Given the description of an element on the screen output the (x, y) to click on. 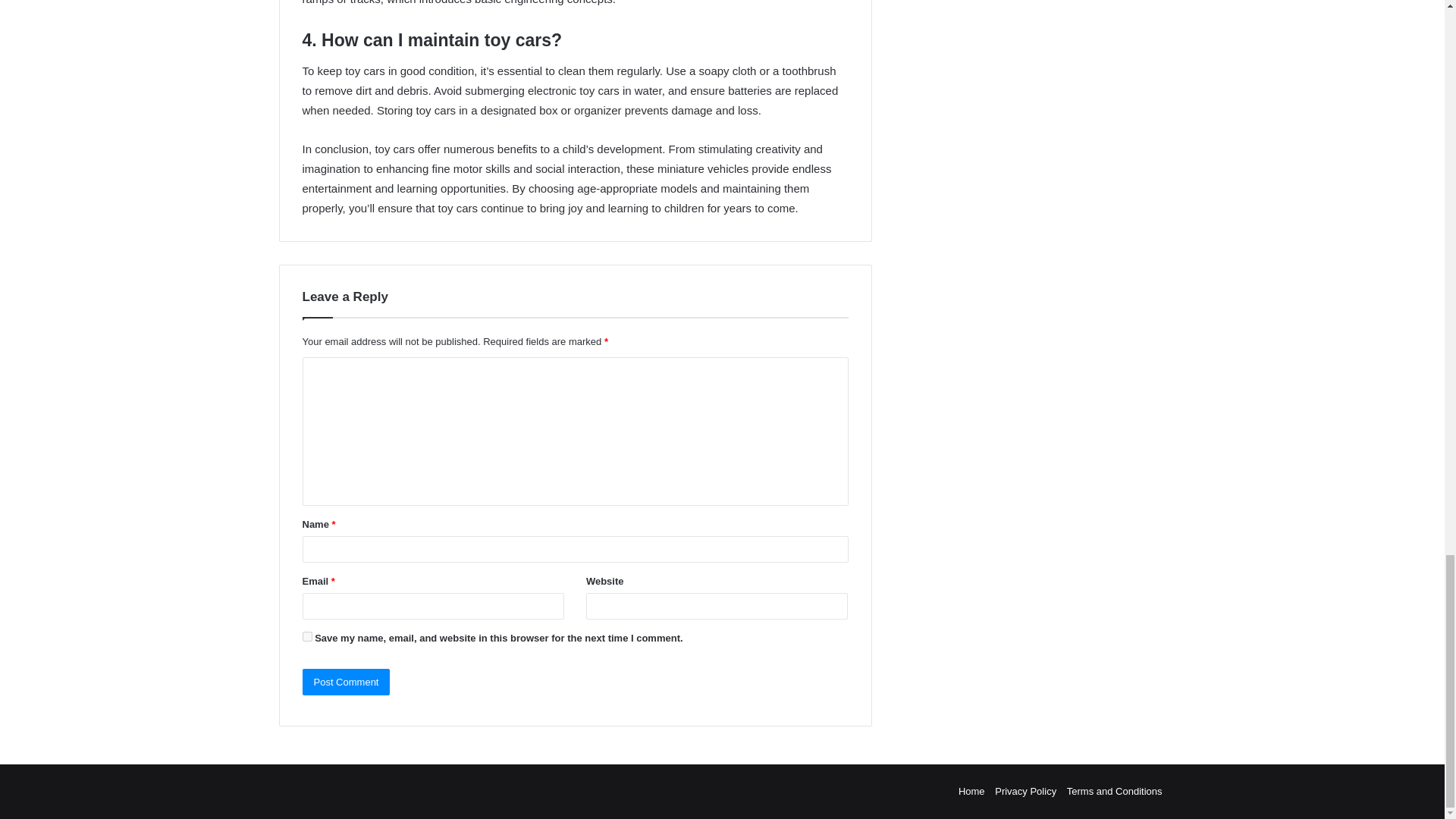
yes (306, 636)
Post Comment (345, 682)
Home (971, 790)
Post Comment (345, 682)
Privacy Policy (1025, 790)
Terms and Conditions (1114, 790)
